Given the description of an element on the screen output the (x, y) to click on. 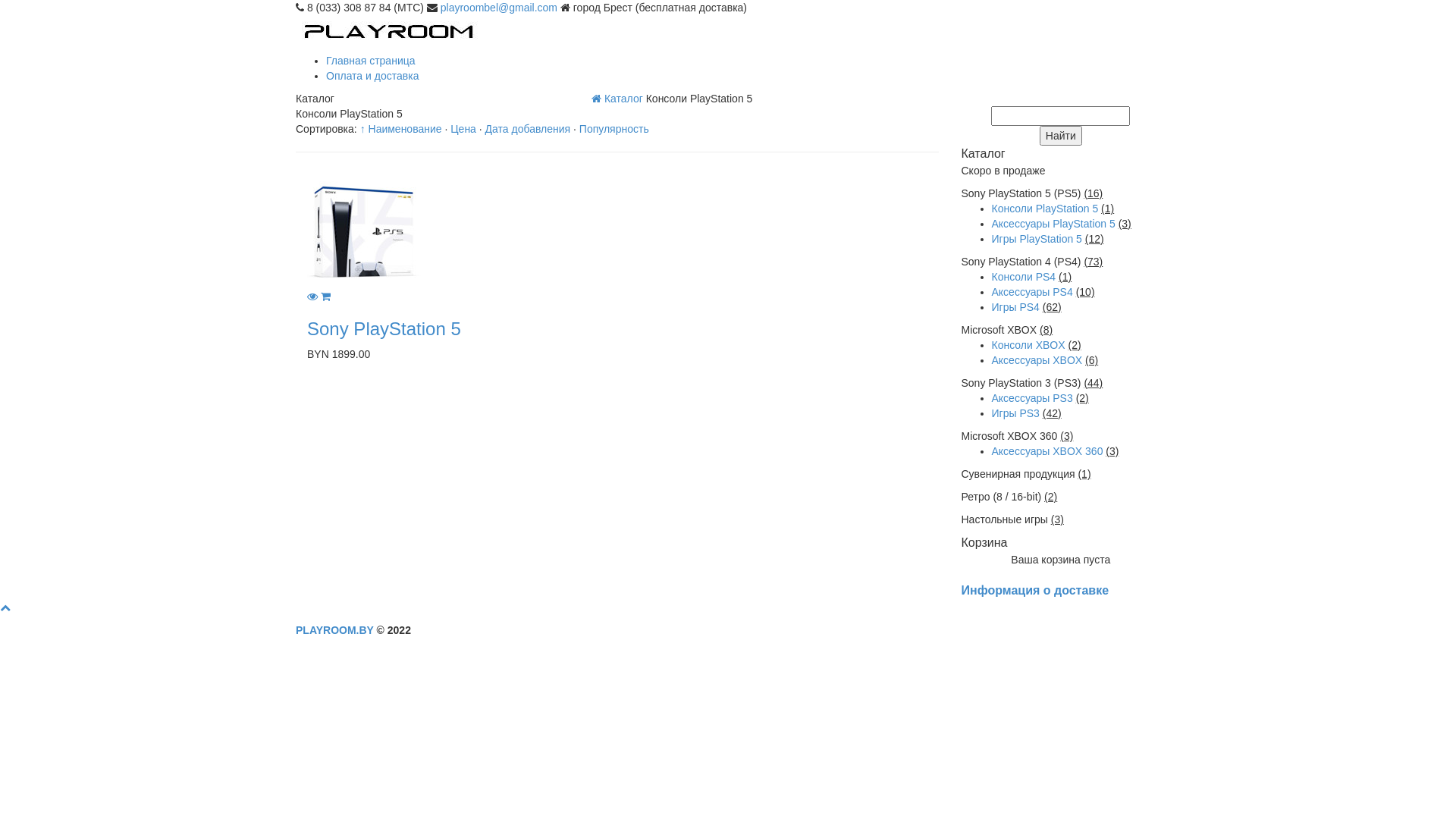
Microsoft XBOX 360 (3) Element type: text (1061, 435)
playroombel@gmail.com Element type: text (498, 7)
Sony PlayStation 4 (PS4) (73) Element type: text (1061, 261)
Microsoft XBOX (8) Element type: text (1061, 329)
Sony PlayStation 5 (PS5) (16) Element type: text (1061, 192)
Sony PlayStation 3 (PS3) (44) Element type: text (1061, 382)
Sony PlayStation 5 Element type: text (384, 328)
PLAYROOM.BY Element type: text (334, 630)
